Given the description of an element on the screen output the (x, y) to click on. 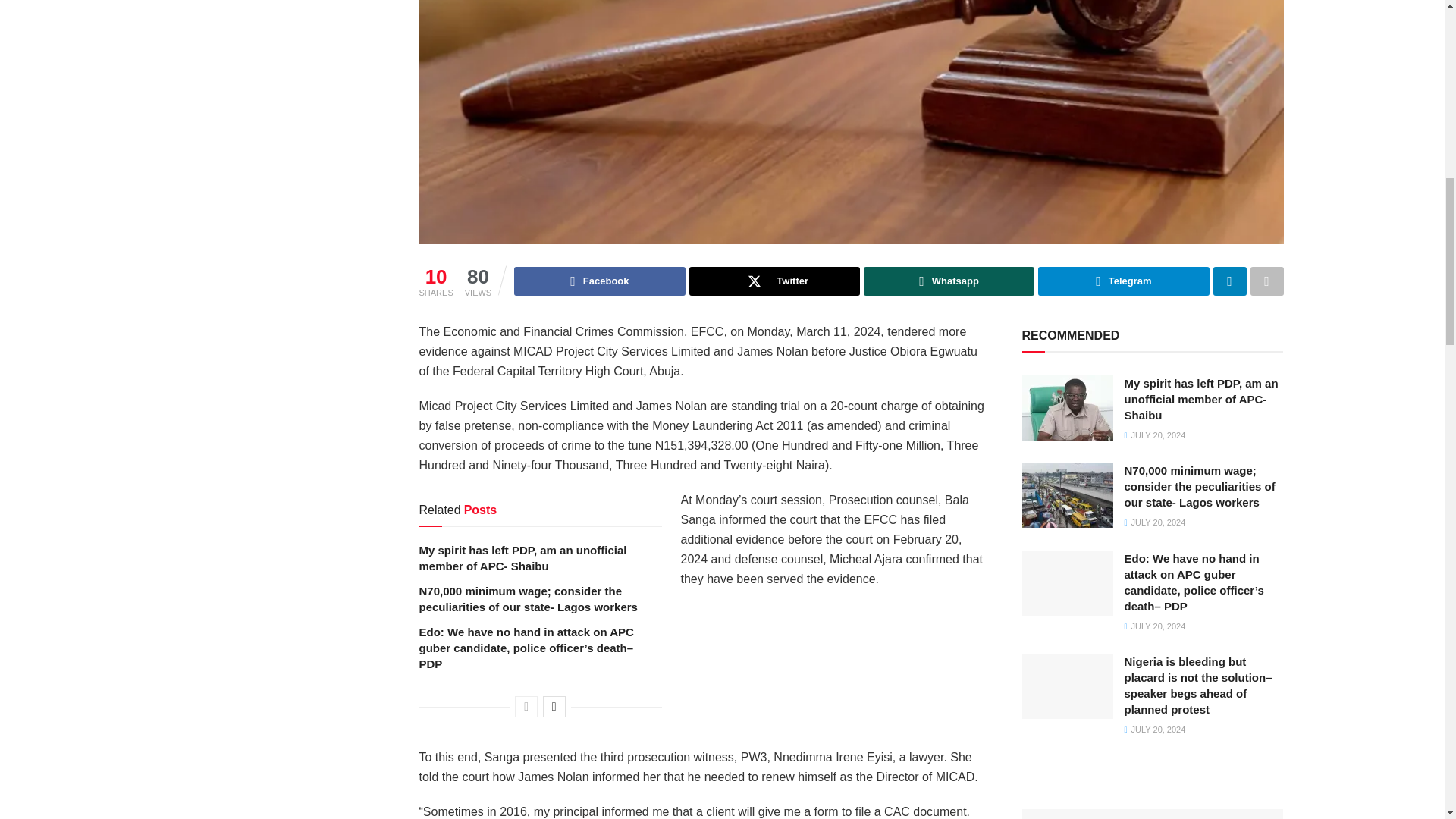
Previous (526, 706)
Next (554, 706)
